Given the description of an element on the screen output the (x, y) to click on. 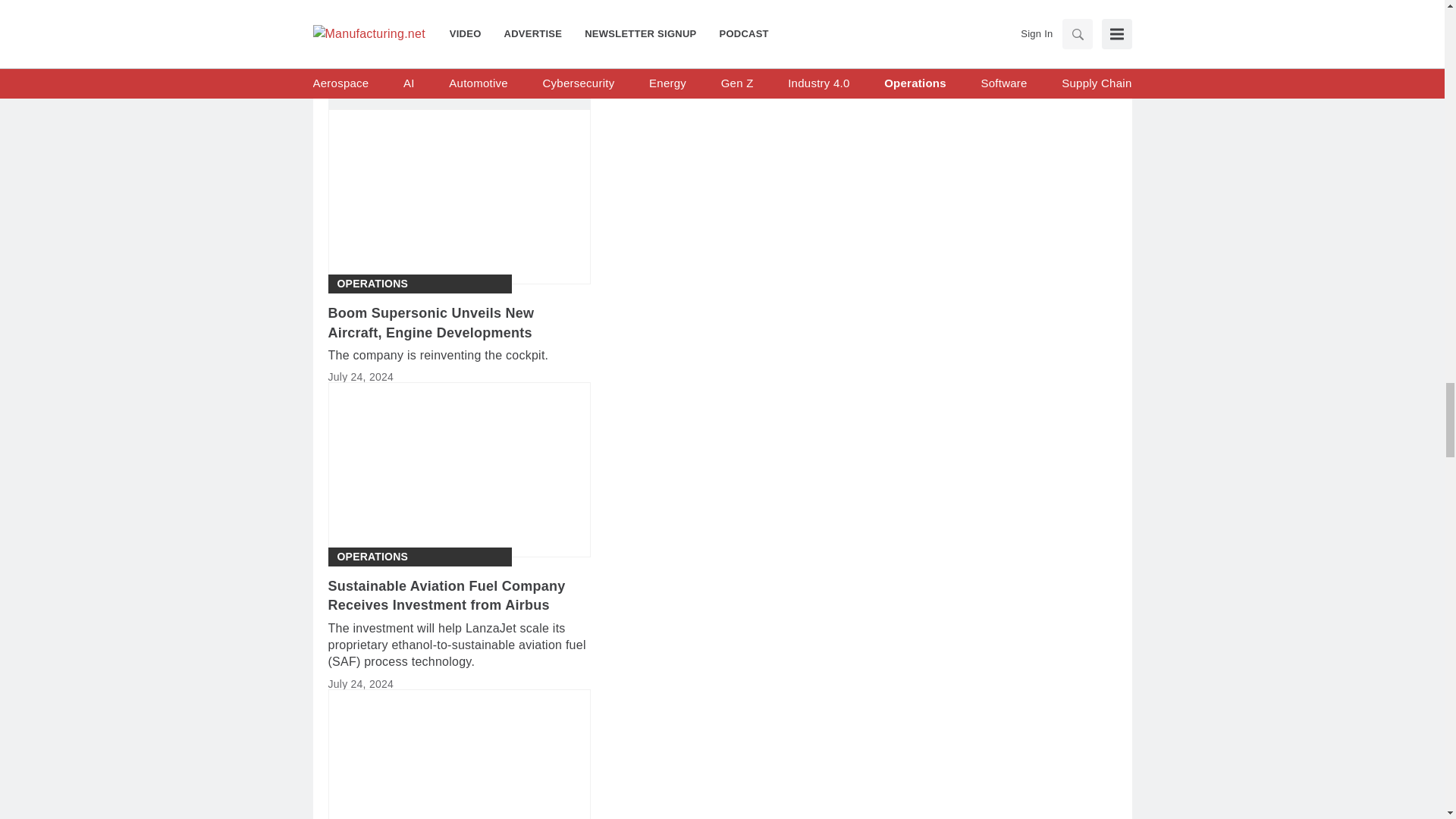
Operations (371, 283)
Operations (371, 556)
